Given the description of an element on the screen output the (x, y) to click on. 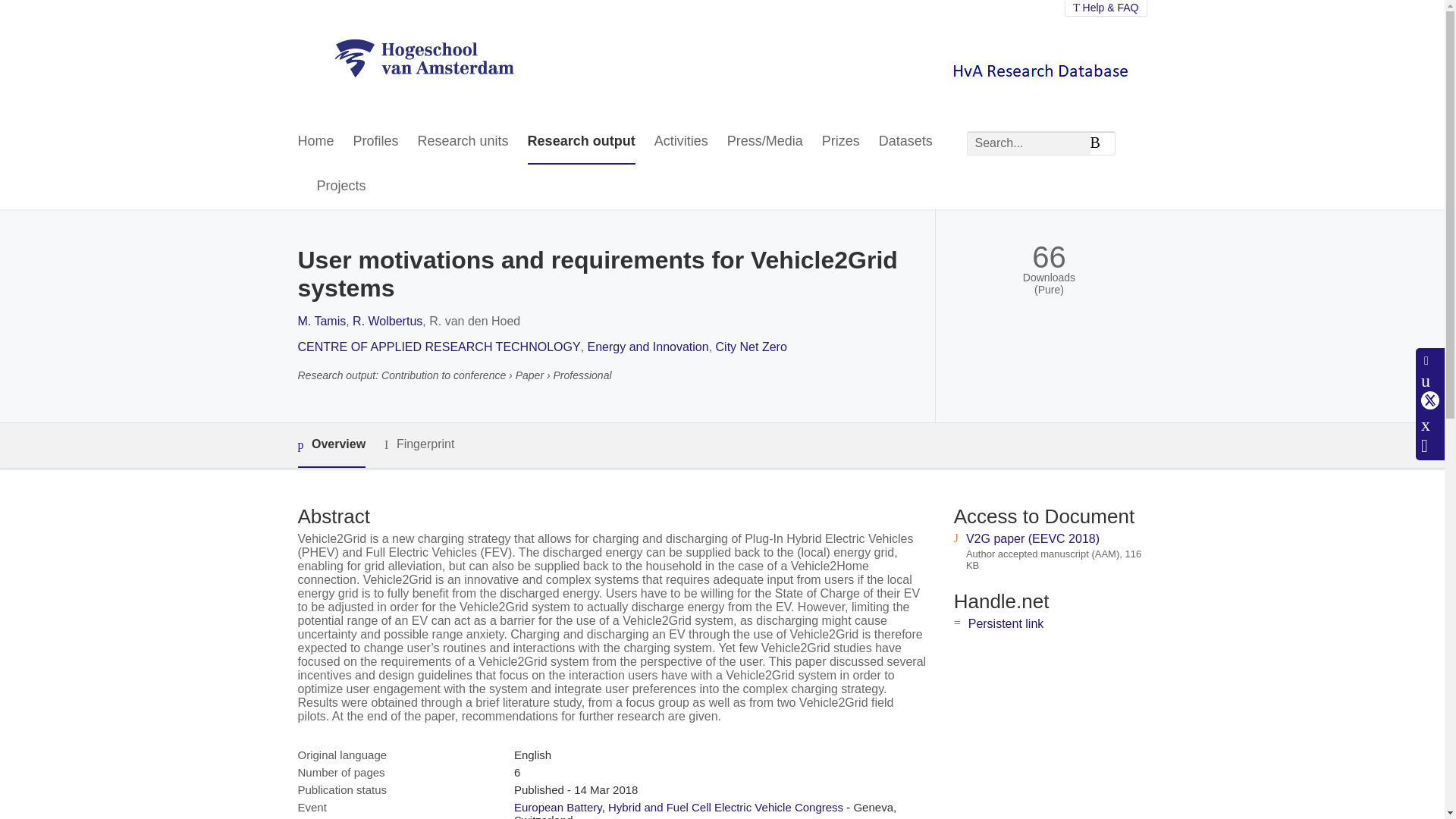
Prizes (841, 141)
CENTRE OF APPLIED RESEARCH TECHNOLOGY (438, 346)
Persistent link (1005, 623)
Projects (341, 186)
M. Tamis (321, 320)
HvA Research Database Home (424, 59)
City Net Zero (751, 346)
Overview (331, 445)
Energy and Innovation (648, 346)
Datasets (906, 141)
R. Wolbertus (387, 320)
Profiles (375, 141)
Home (315, 141)
Fingerprint (419, 444)
